Given the description of an element on the screen output the (x, y) to click on. 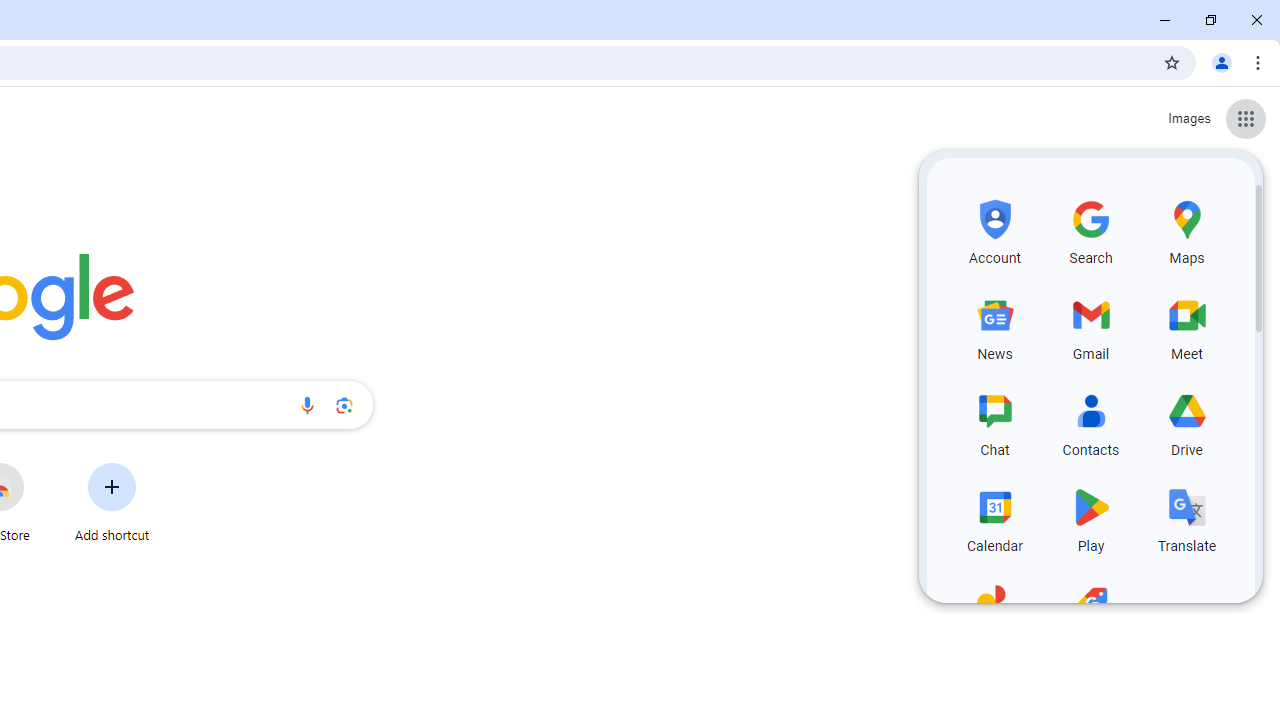
Calendar, row 4 of 5 and column 1 of 3 in the first section (994, 517)
Search by voice (307, 404)
Search for Images  (1188, 119)
Maps, row 1 of 5 and column 3 of 3 in the first section (1186, 229)
More actions for Web Store shortcut (39, 464)
Contacts, row 3 of 5 and column 2 of 3 in the first section (1090, 421)
Search by image (344, 404)
Translate, row 4 of 5 and column 3 of 3 in the first section (1186, 517)
Add shortcut (111, 502)
Photos, row 5 of 5 and column 1 of 3 in the first section (994, 613)
